Given the description of an element on the screen output the (x, y) to click on. 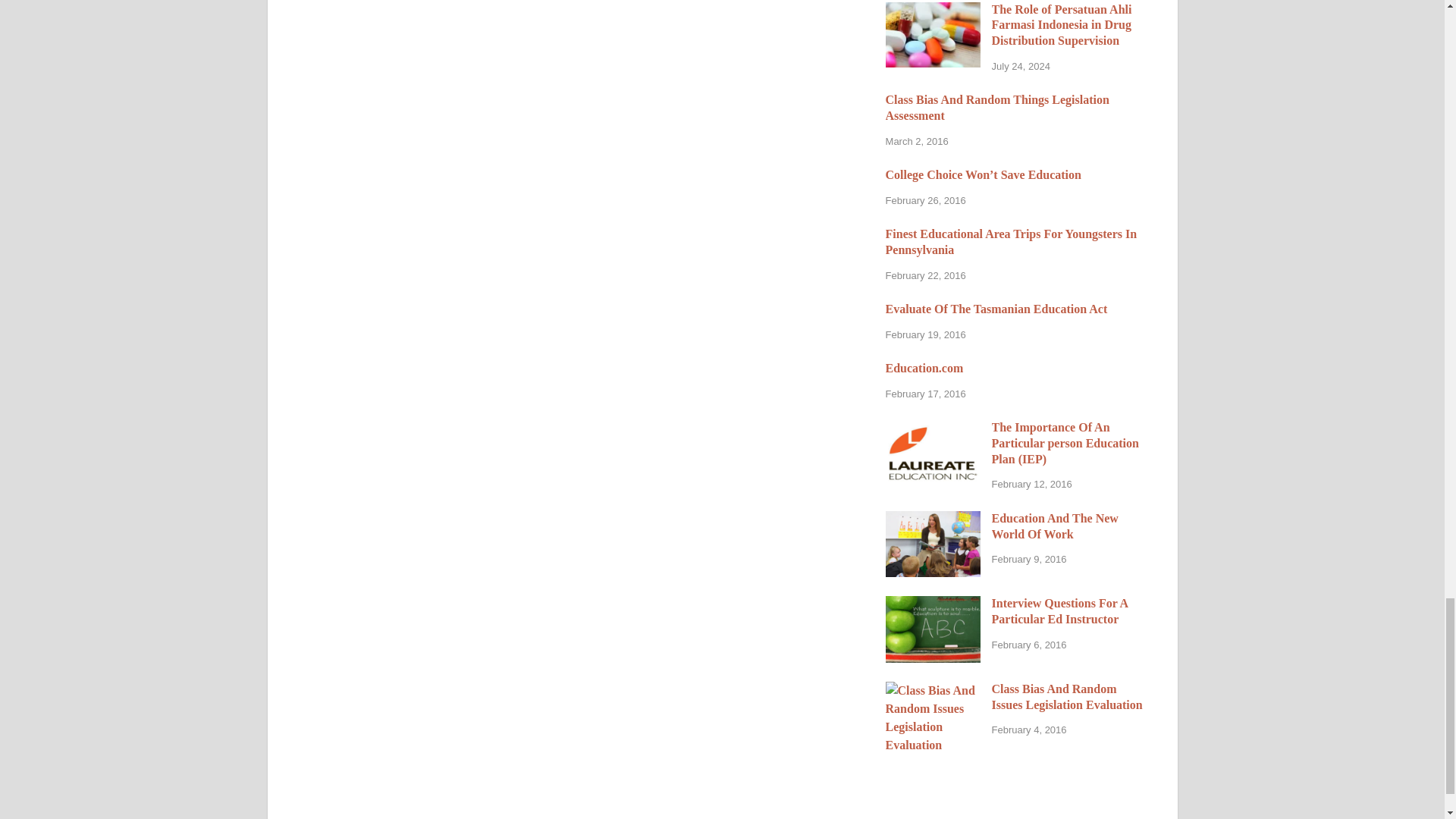
Education And The New World Of Work (932, 519)
Interview Questions For A Particular Ed Instructor (932, 604)
